Given the description of an element on the screen output the (x, y) to click on. 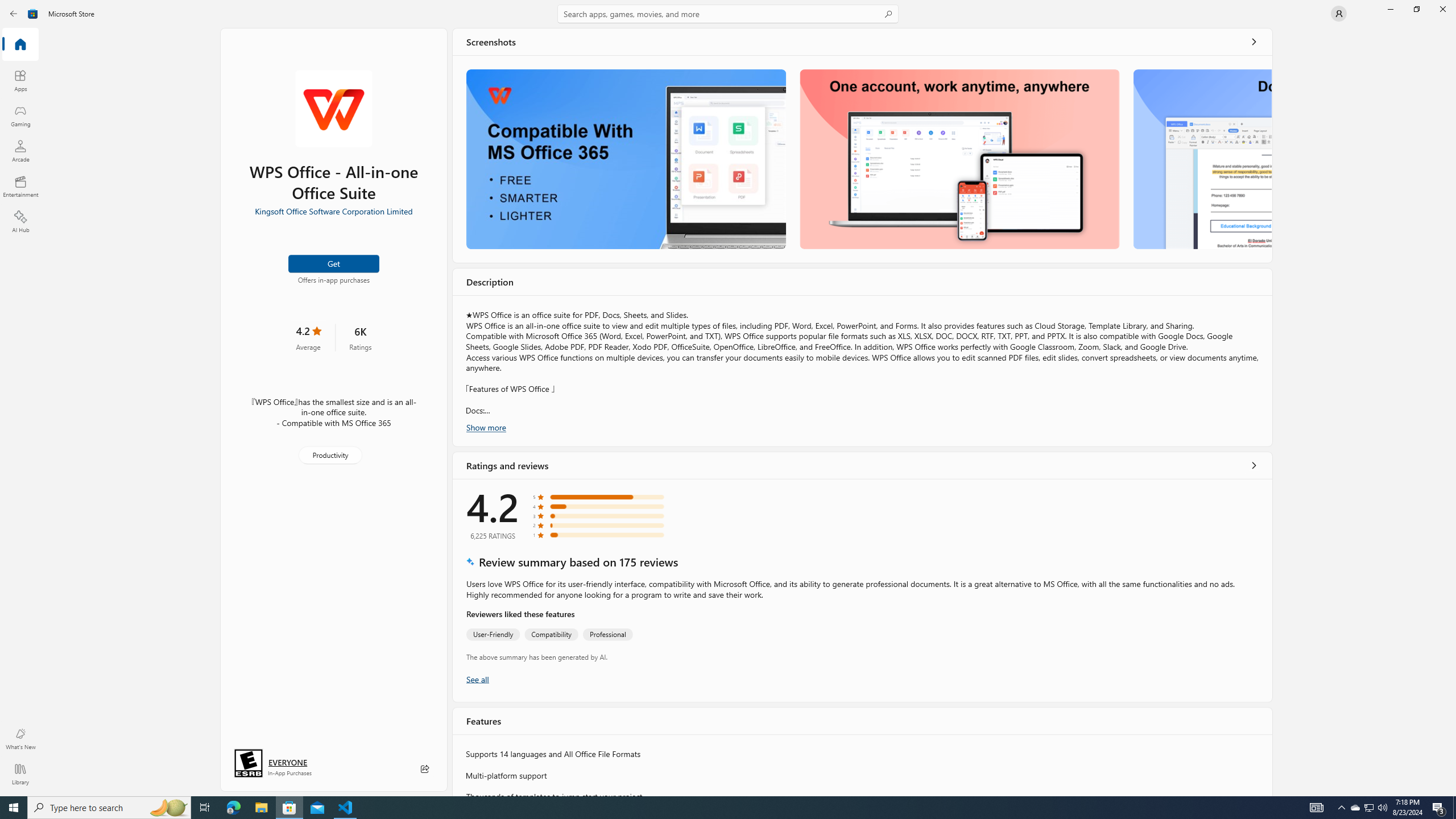
Screenshot 2 (959, 158)
See all (1253, 41)
Age rating: EVERYONE. Click for more information. (287, 762)
Screenshot 3 (1201, 158)
4.2 stars. Click to skip to ratings and reviews (307, 337)
Back (13, 13)
Get (334, 263)
Kingsoft Office Software Corporation Limited (333, 210)
